Given the description of an element on the screen output the (x, y) to click on. 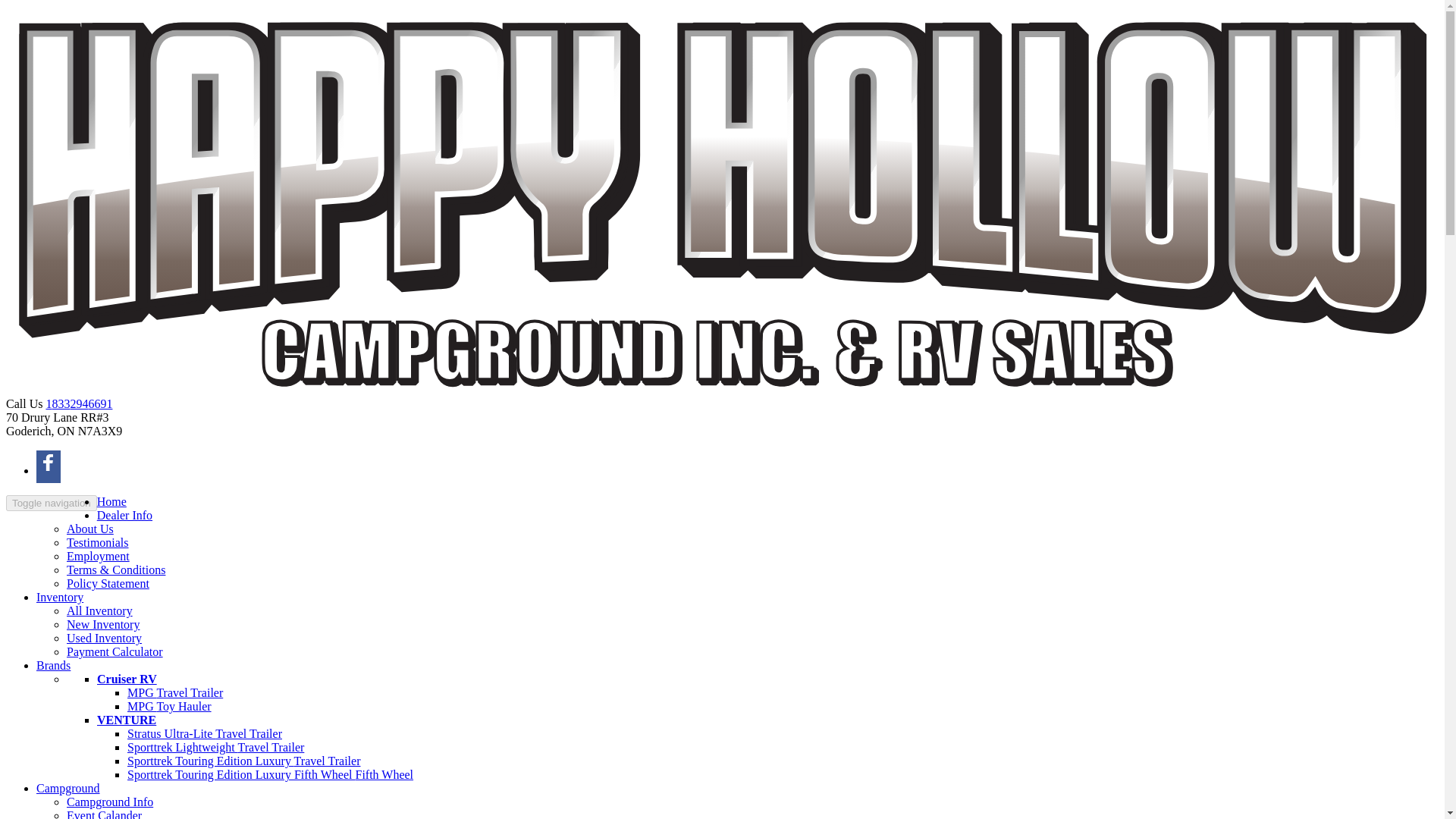
Inventory (59, 596)
Testimonials (97, 542)
Testimonials (97, 542)
Sporttrek Lightweight Travel Trailer (216, 747)
About Us (89, 528)
Campground Info (109, 801)
Payment Calculator (114, 651)
Policy Statement (107, 583)
Stratus Ultra-Lite Travel Trailer (205, 733)
Used Inventory (103, 637)
